Given the description of an element on the screen output the (x, y) to click on. 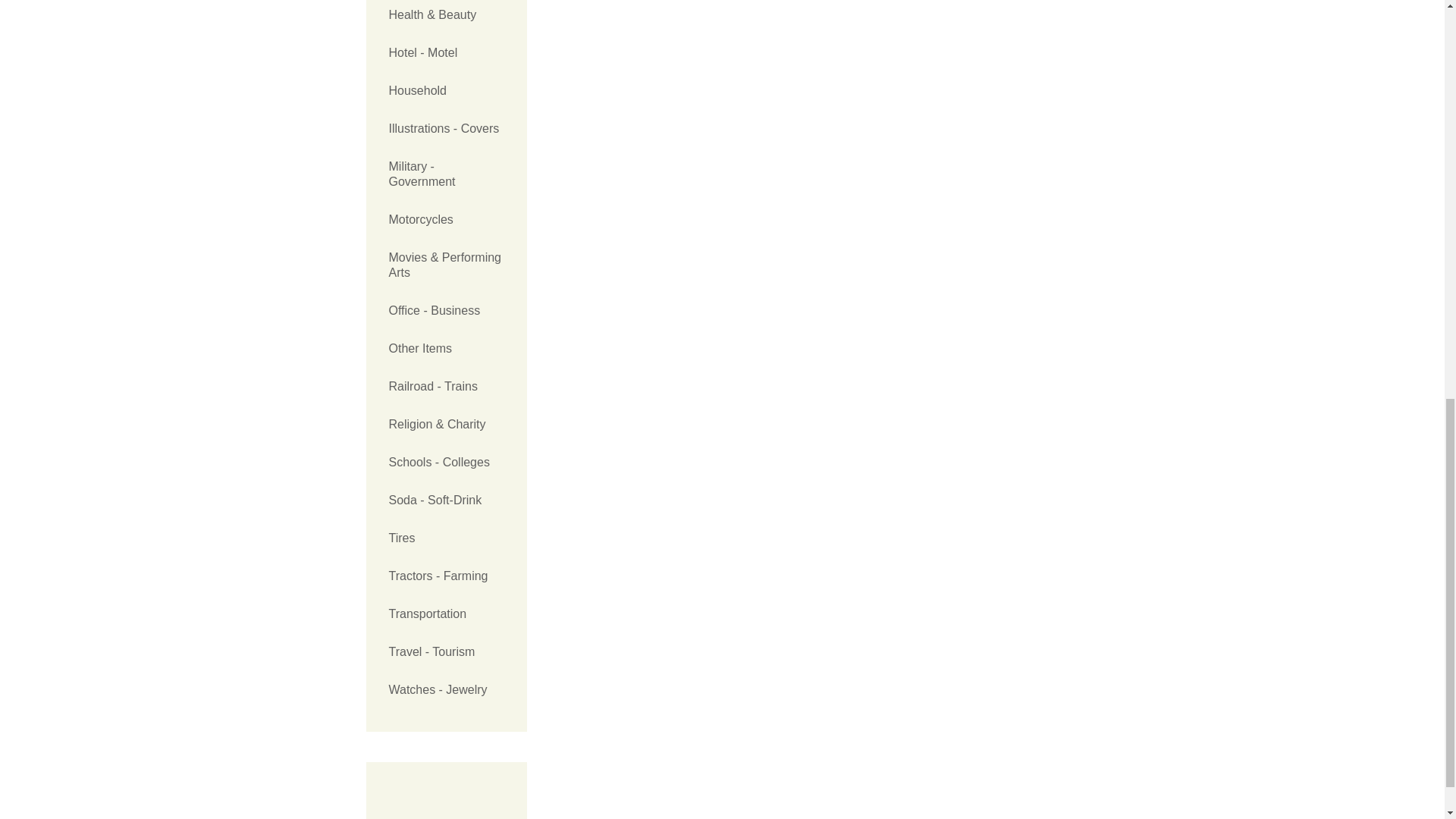
Office - Business (445, 310)
Other Items (445, 348)
Illustrations - Covers (445, 128)
Motorcycles (445, 219)
Military - Government (445, 174)
Household (445, 90)
Hotel - Motel (445, 53)
